Given the description of an element on the screen output the (x, y) to click on. 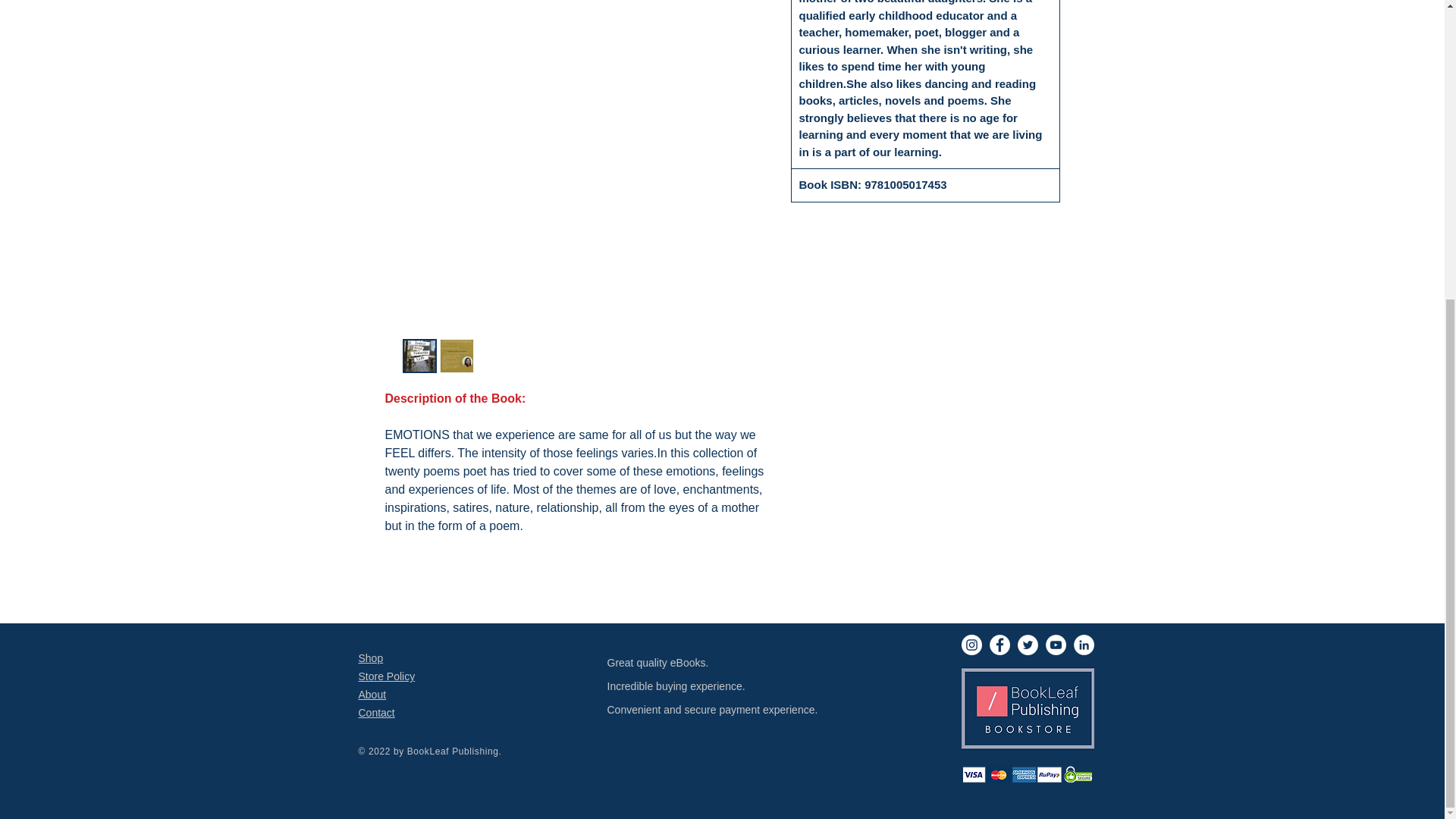
About (371, 694)
Store Policy (386, 676)
Shop (370, 657)
Contact (376, 712)
